Given the description of an element on the screen output the (x, y) to click on. 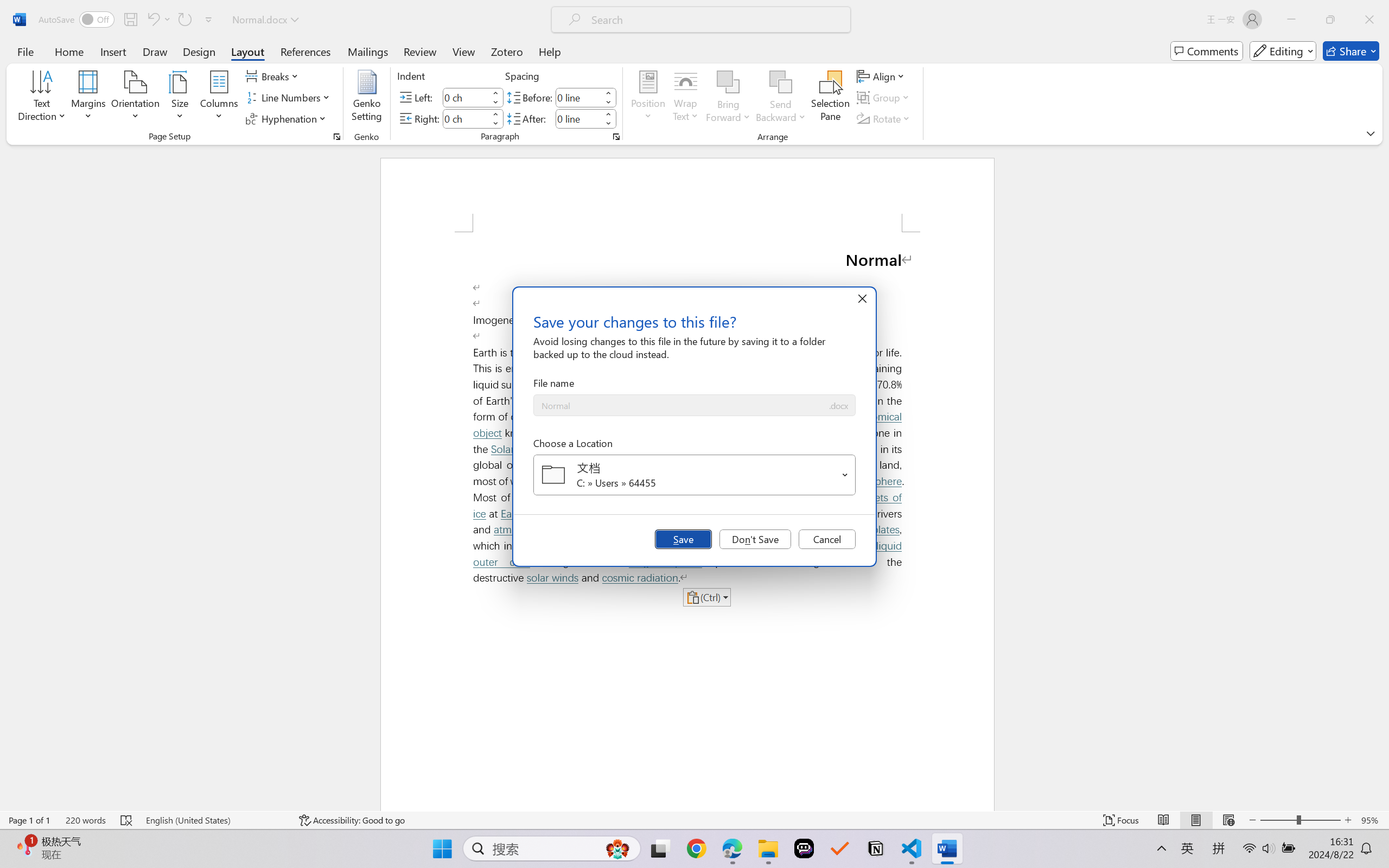
Google Chrome (696, 848)
Hyphenation (287, 118)
Genko Setting... (367, 97)
Spacing After (578, 118)
Spacing Before (578, 96)
Microsoft search (715, 19)
Help (549, 51)
Selection Pane... (830, 97)
